Given the description of an element on the screen output the (x, y) to click on. 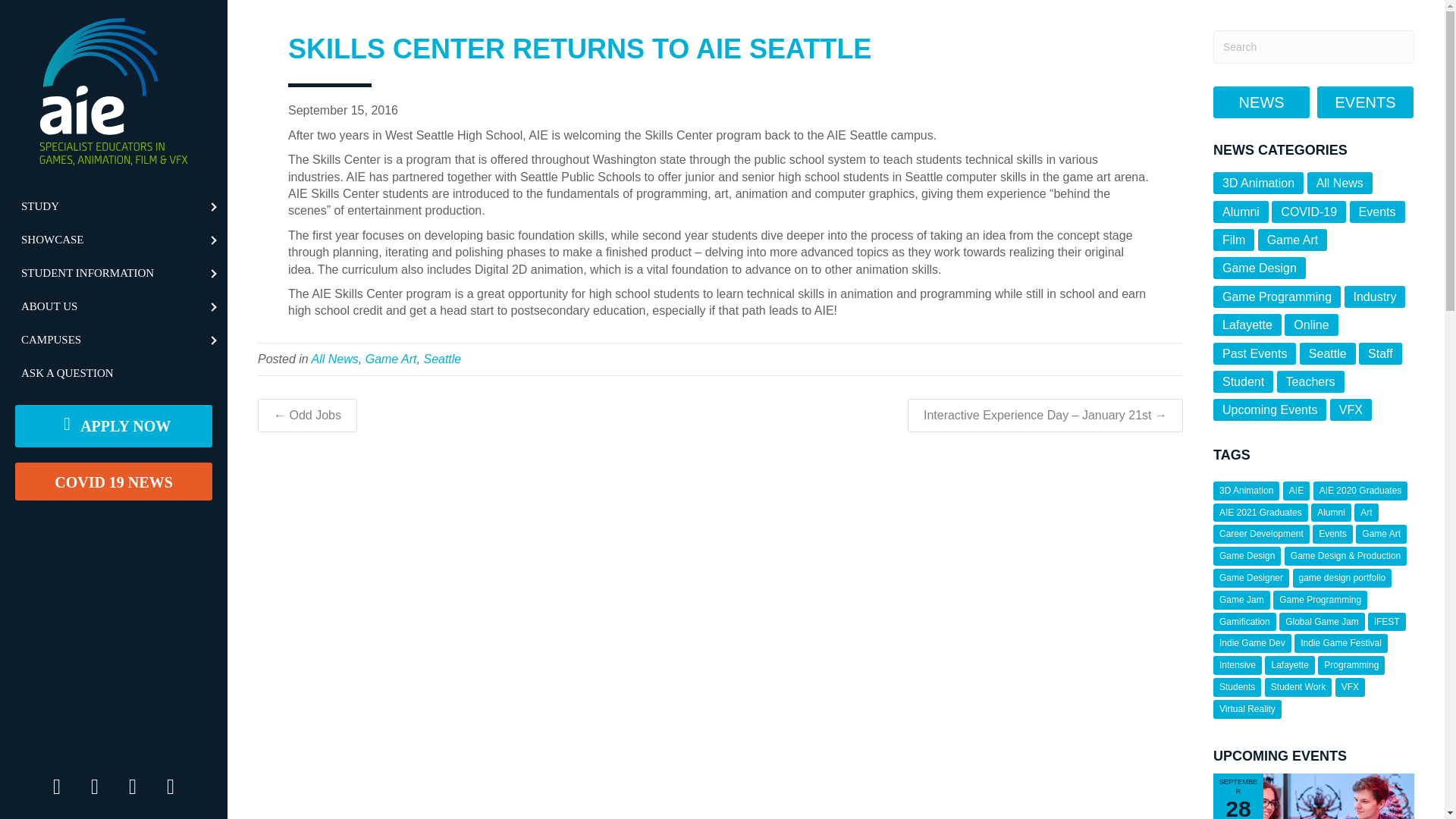
STUDENT INFORMATION (113, 272)
STUDY (113, 205)
SHOWCASE (113, 239)
Type and press Enter to search. (1312, 46)
home-nav-apply (113, 425)
Open House (1312, 796)
